Given the description of an element on the screen output the (x, y) to click on. 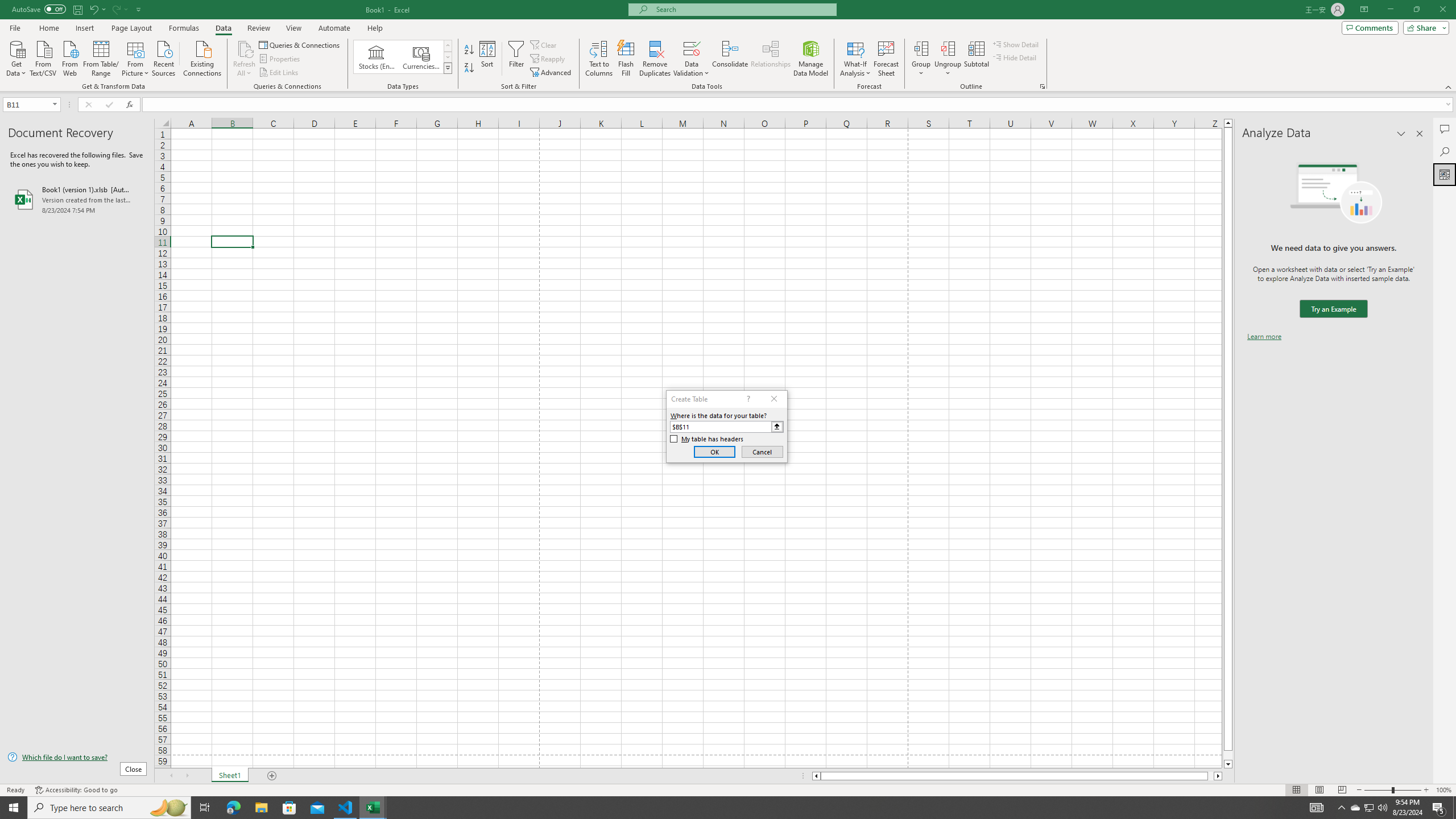
Recent Sources (163, 57)
From Text/CSV (43, 57)
Filter (515, 58)
Existing Connections (202, 57)
Row up (448, 45)
Data Types (448, 67)
